Given the description of an element on the screen output the (x, y) to click on. 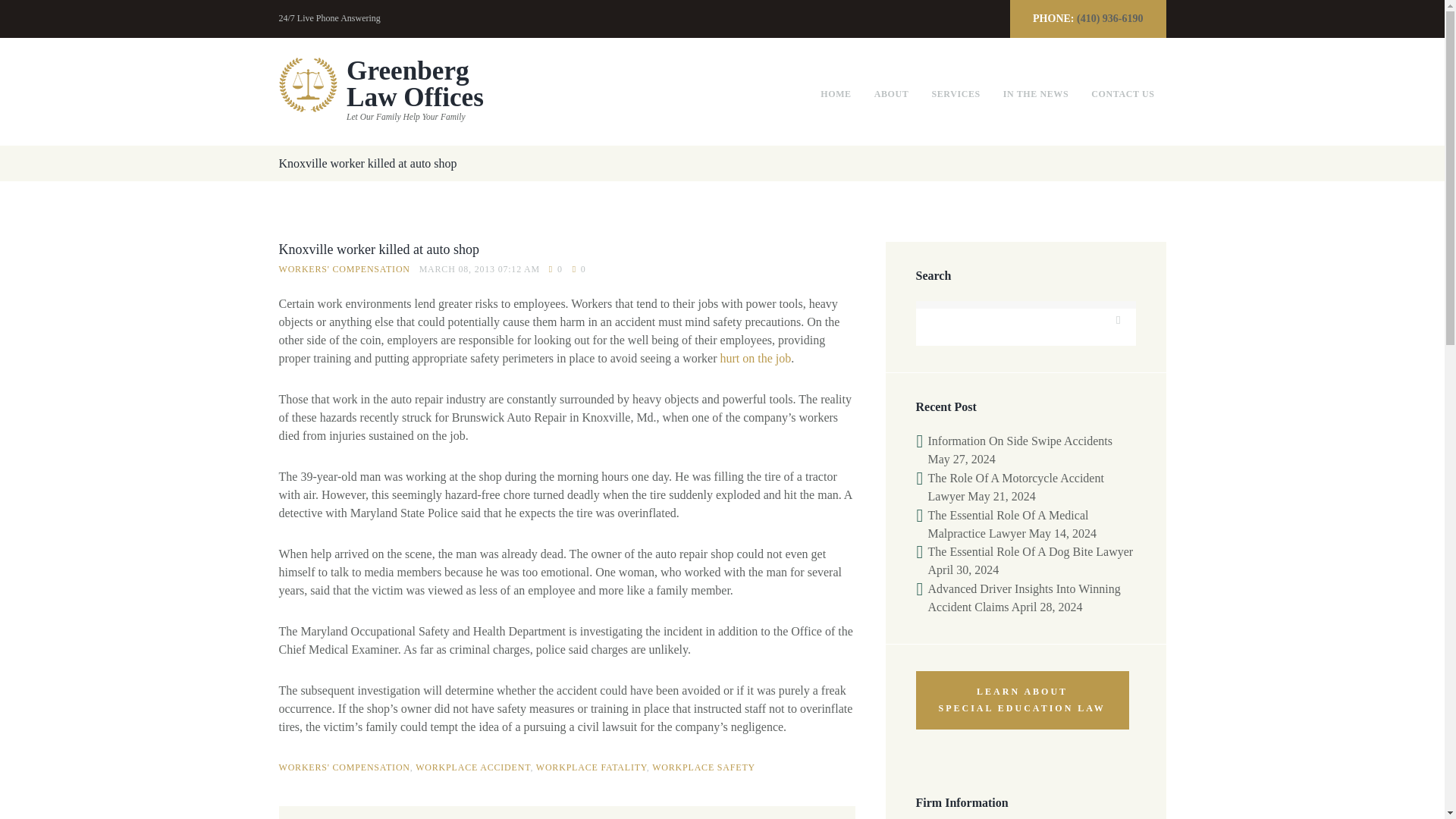
Comments - 0 (555, 269)
SERVICES (955, 93)
HOME (381, 91)
ABOUT (835, 93)
Like (891, 93)
